Given the description of an element on the screen output the (x, y) to click on. 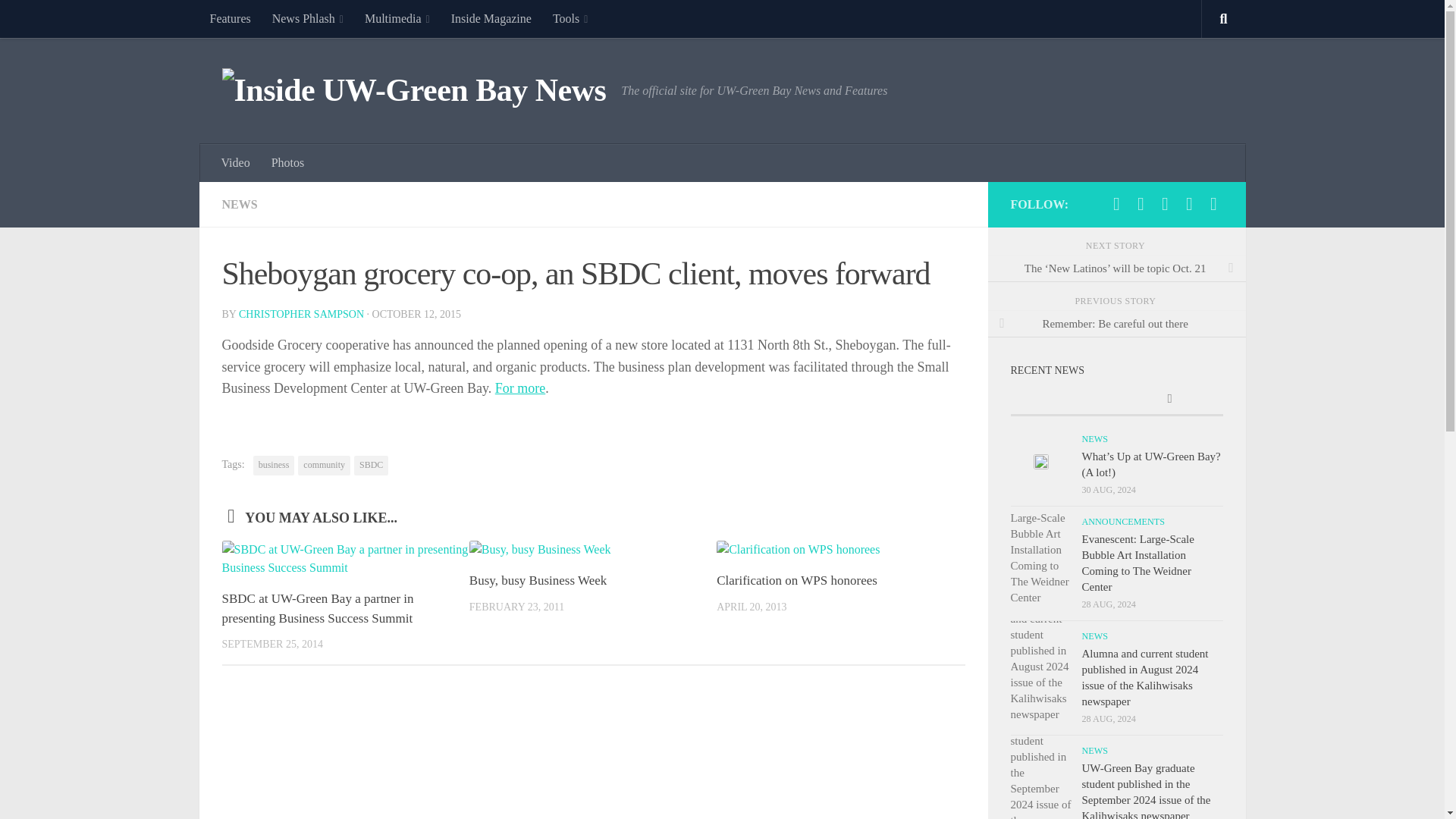
For more (520, 387)
Twitter (1140, 203)
Posts by Christopher Sampson (301, 314)
community (324, 465)
Multimedia (397, 18)
Features (229, 18)
Photos (287, 162)
Skip to content (59, 20)
Clarification on WPS honorees (796, 580)
